Given the description of an element on the screen output the (x, y) to click on. 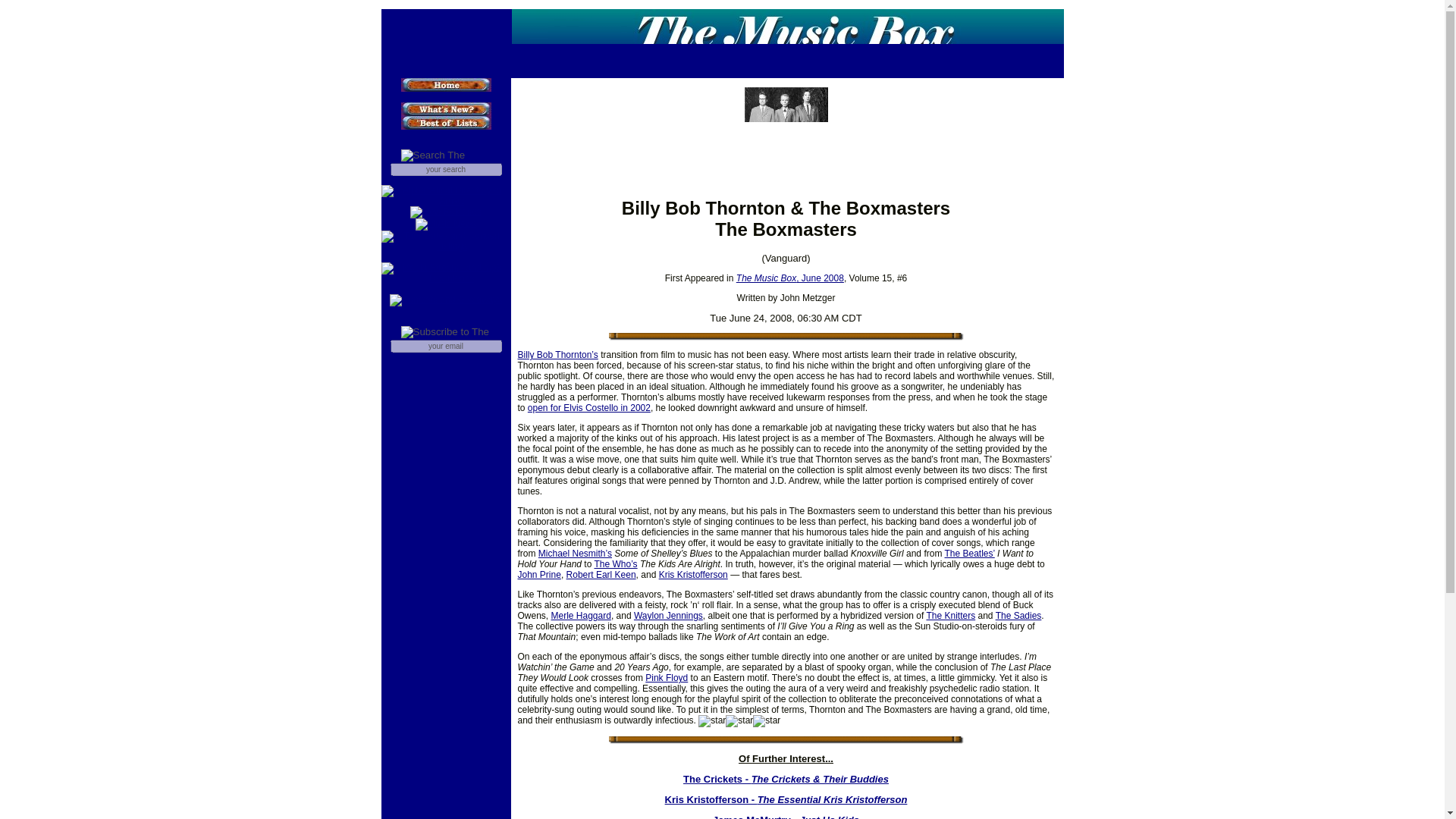
The Knitters (950, 615)
Robert Earl Keen (601, 574)
your email (445, 345)
open for Elvis Costello in 2002 (588, 407)
The Sadies (1018, 615)
Kris Kristofferson (693, 574)
Waylon Jennings (668, 615)
John Prine (538, 574)
Merle Haggard (581, 615)
your search (445, 169)
Pink Floyd (666, 677)
James McMurtry - Just Us Kids (786, 816)
Kris Kristofferson - The Essential Kris Kristofferson (786, 799)
The Music Box, June 2008 (790, 277)
